Given the description of an element on the screen output the (x, y) to click on. 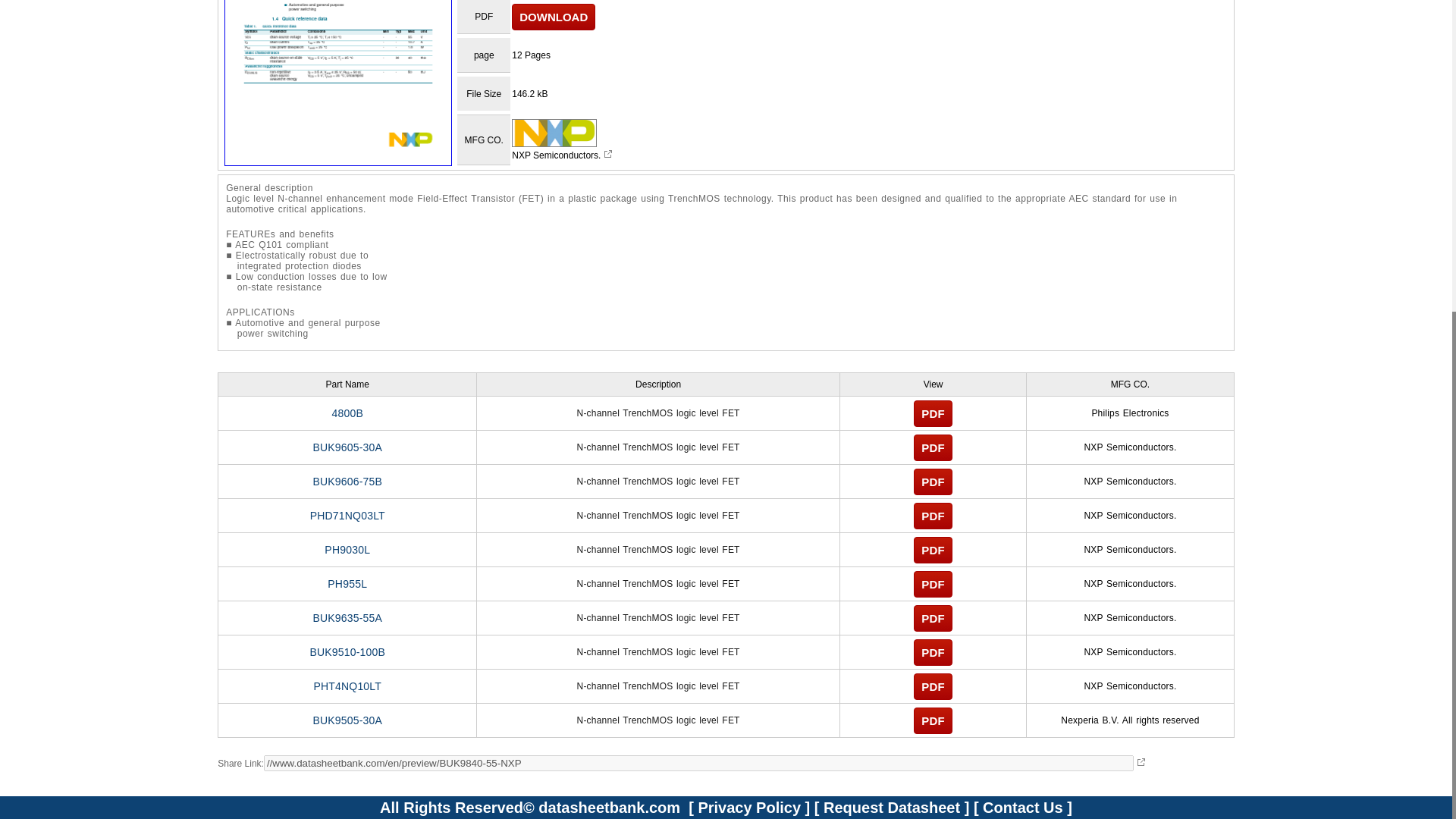
4800B (346, 413)
BUK9510-100B datasheet pdf (346, 652)
PHT4NQ10LT datasheet pdf (347, 686)
BUK9635-55A datasheet pdf (347, 617)
BUK9605-30A (347, 447)
PH9030L (346, 549)
BUK9605-30A datasheet pdf (347, 447)
Privacy Policy (748, 807)
BUK9505-30A datasheet pdf (347, 720)
PHD71NQ03LT datasheet pdf (347, 515)
PDF (933, 447)
Request Datasheet (891, 807)
PDF (933, 719)
PDF (933, 583)
PDF (933, 413)
